Given the description of an element on the screen output the (x, y) to click on. 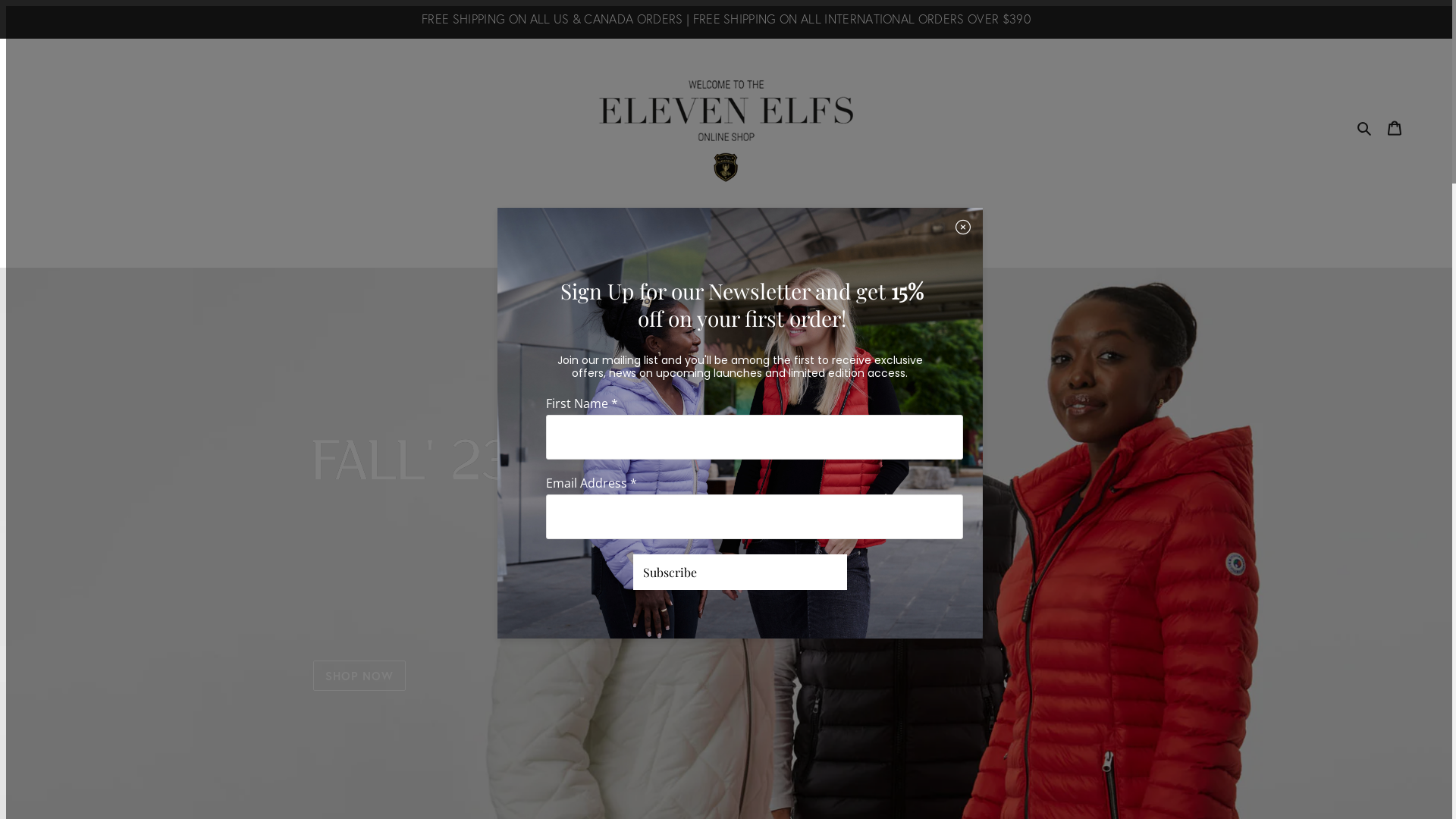
CONTACT Element type: text (877, 220)
Cart Element type: text (1394, 125)
SHOP NOW Element type: text (358, 675)
Search Element type: text (1365, 125)
OUR STORY Element type: text (650, 220)
SHOP Element type: text (561, 220)
OUR DOWN Element type: text (755, 220)
